Given the description of an element on the screen output the (x, y) to click on. 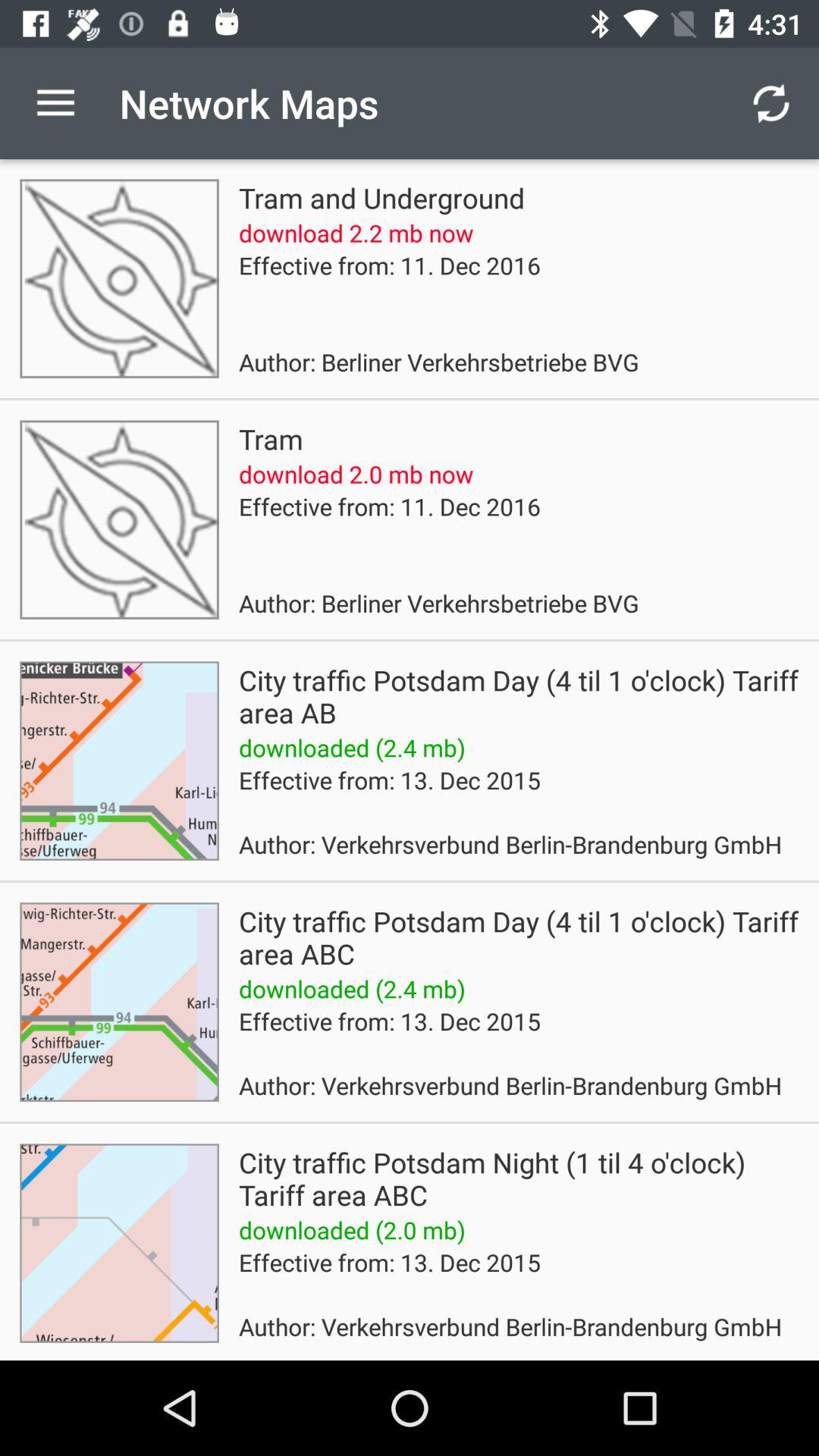
select icon above the download 2 2 icon (381, 197)
